Given the description of an element on the screen output the (x, y) to click on. 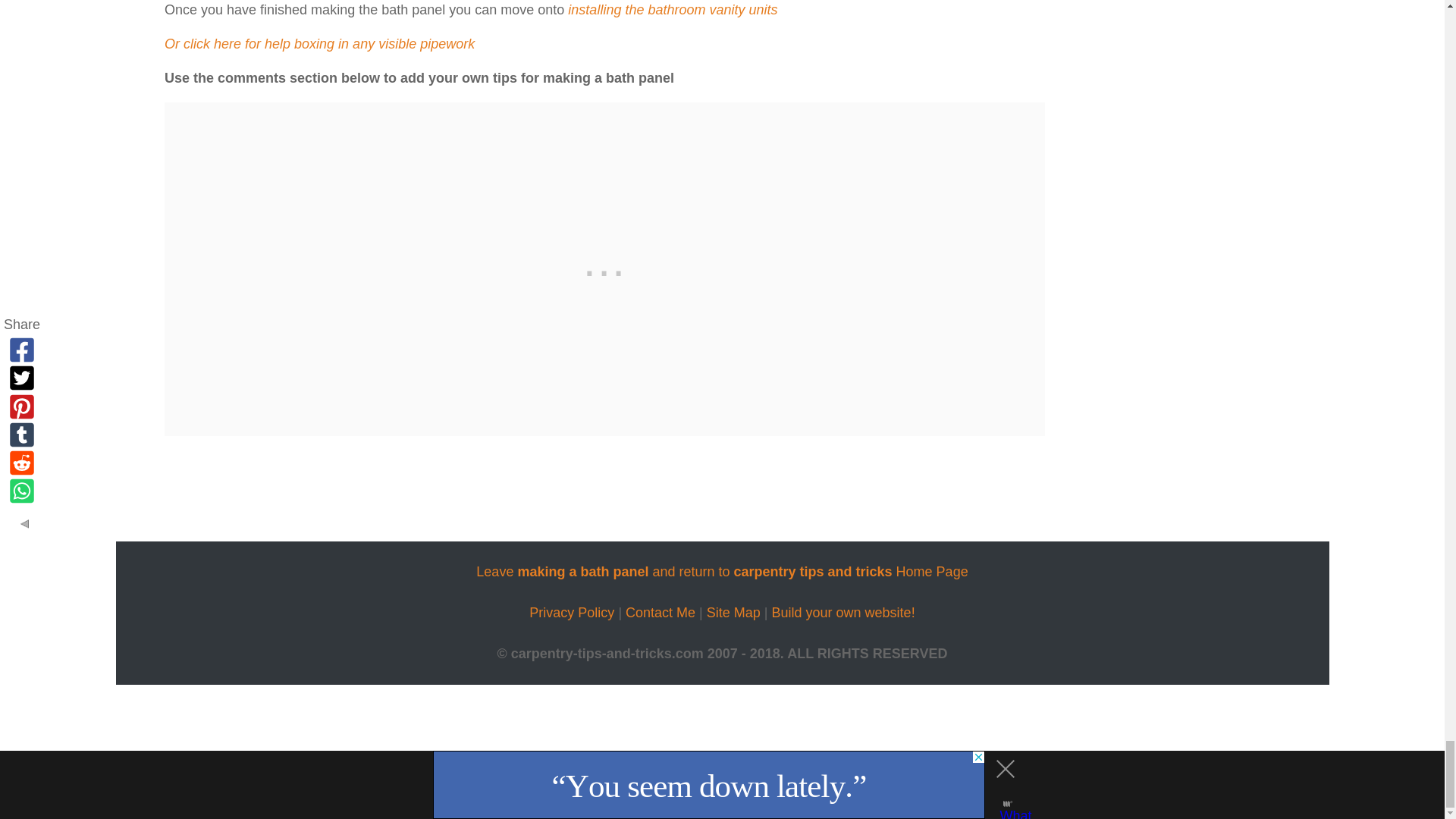
Contact Me (660, 612)
Privacy Policy (571, 612)
installing the bathroom vanity units (672, 9)
Or click here for help boxing in any visible pipework (319, 43)
